Given the description of an element on the screen output the (x, y) to click on. 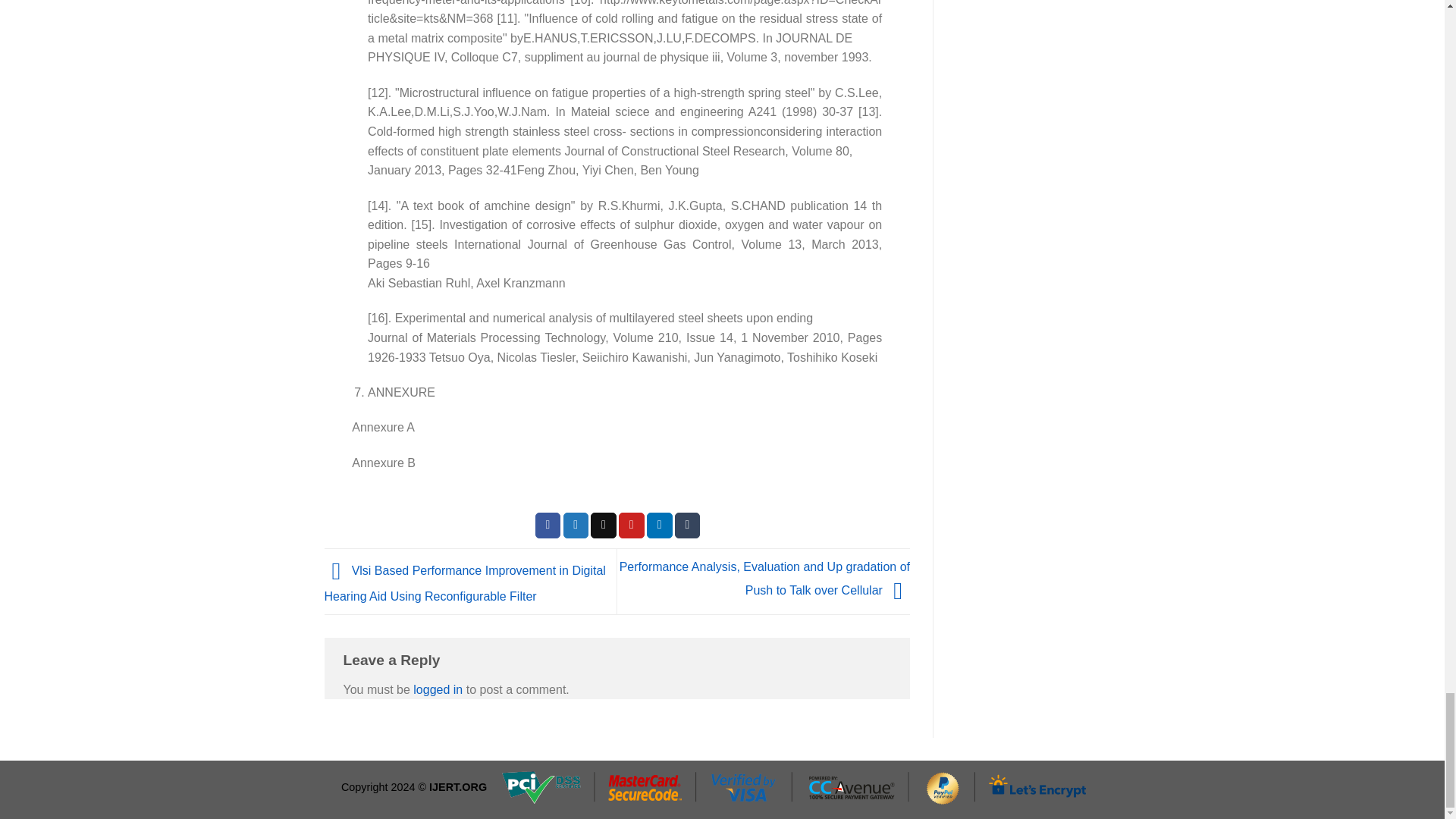
Share on Facebook (547, 525)
Share on Twitter (576, 525)
Email to a Friend (603, 525)
Share on LinkedIn (659, 525)
Share on Tumblr (687, 525)
Pin on Pinterest (631, 525)
